Given the description of an element on the screen output the (x, y) to click on. 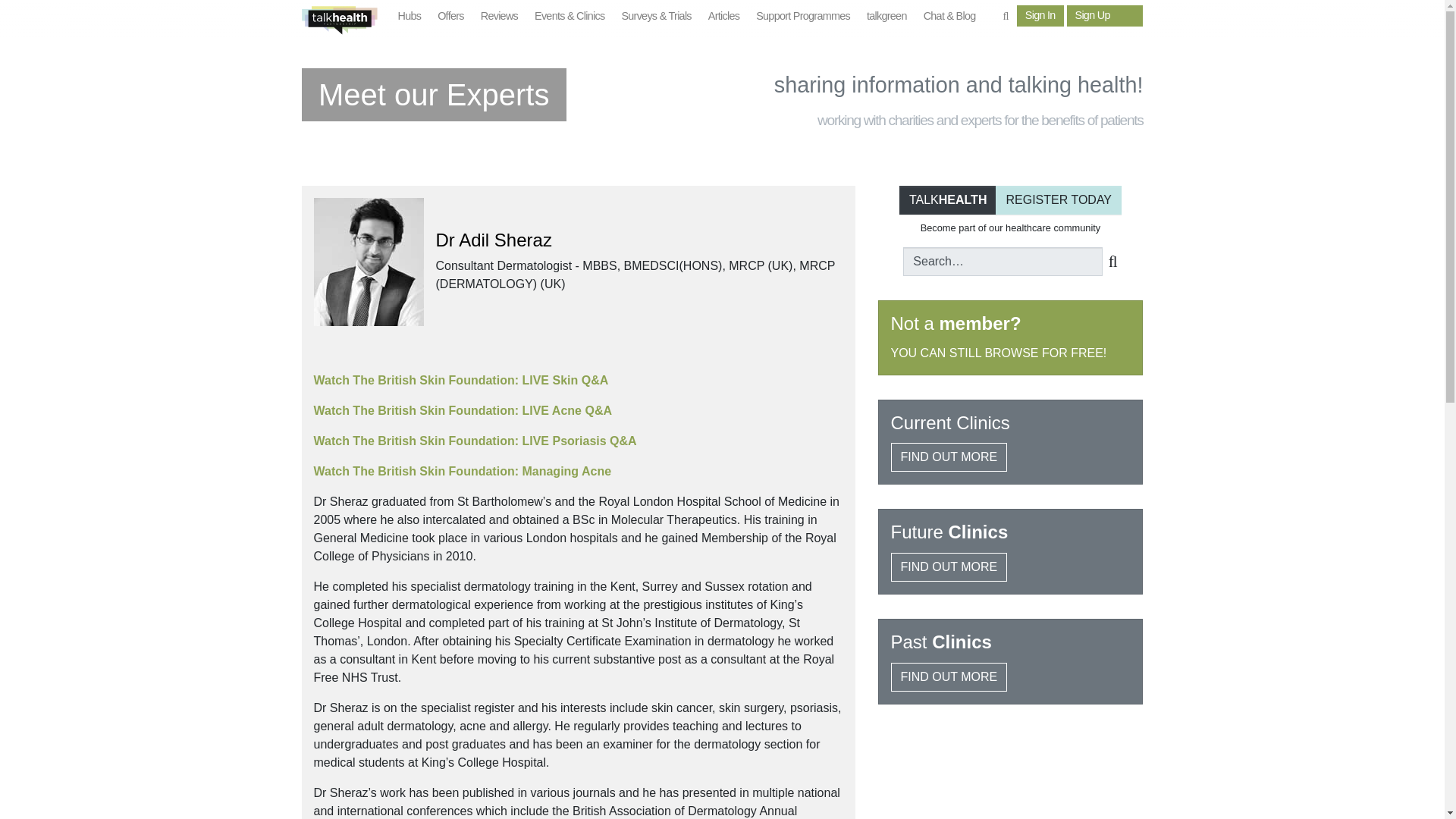
Articles (724, 16)
Reviews (498, 16)
Hubs (409, 16)
talkgreen (887, 16)
Sign Up (1092, 15)
Offers (450, 16)
Watch The British Skin Foundation: Managing Acne (462, 471)
Support Programmes (803, 16)
Meet our Experts (433, 99)
Sign In (1040, 15)
